Given the description of an element on the screen output the (x, y) to click on. 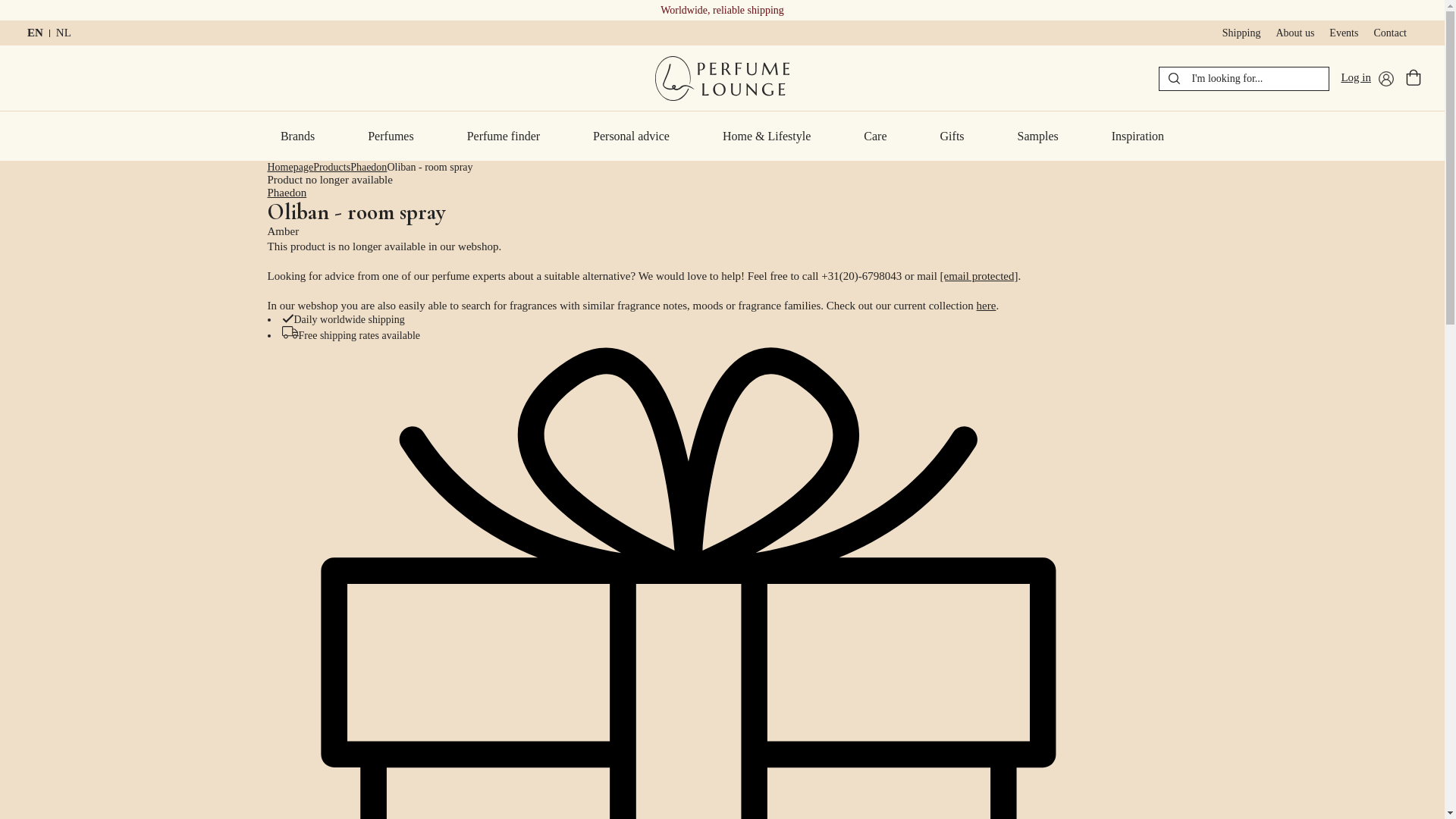
Events (1343, 33)
Shipping (1241, 33)
Perfumes (389, 135)
Log in (1366, 78)
NL (62, 32)
Brands (296, 135)
About us (1294, 33)
EN (35, 32)
Worldwide, reliable shipping (722, 9)
Contact (1389, 33)
